Given the description of an element on the screen output the (x, y) to click on. 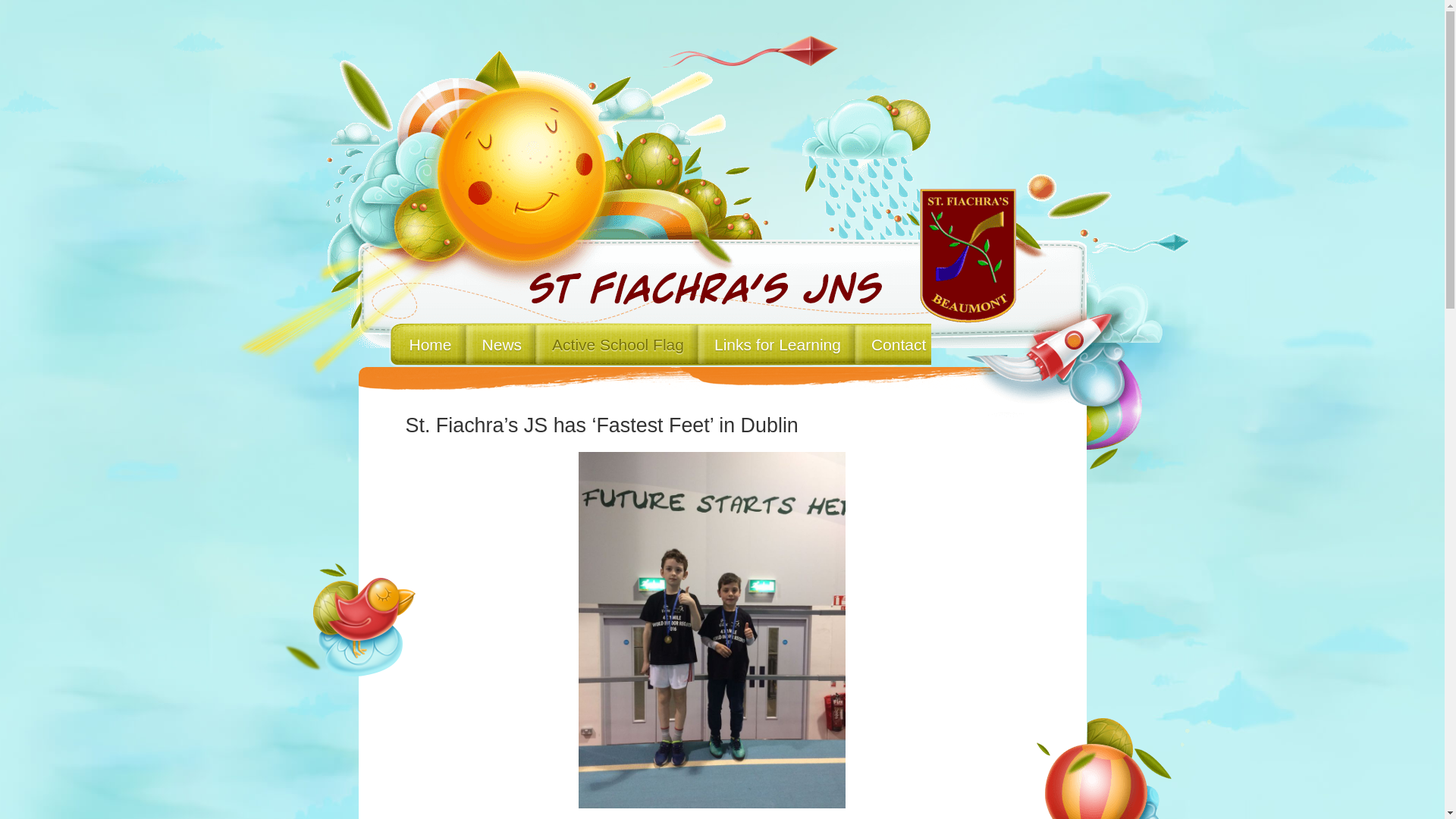
Home (430, 344)
News (501, 344)
